Given the description of an element on the screen output the (x, y) to click on. 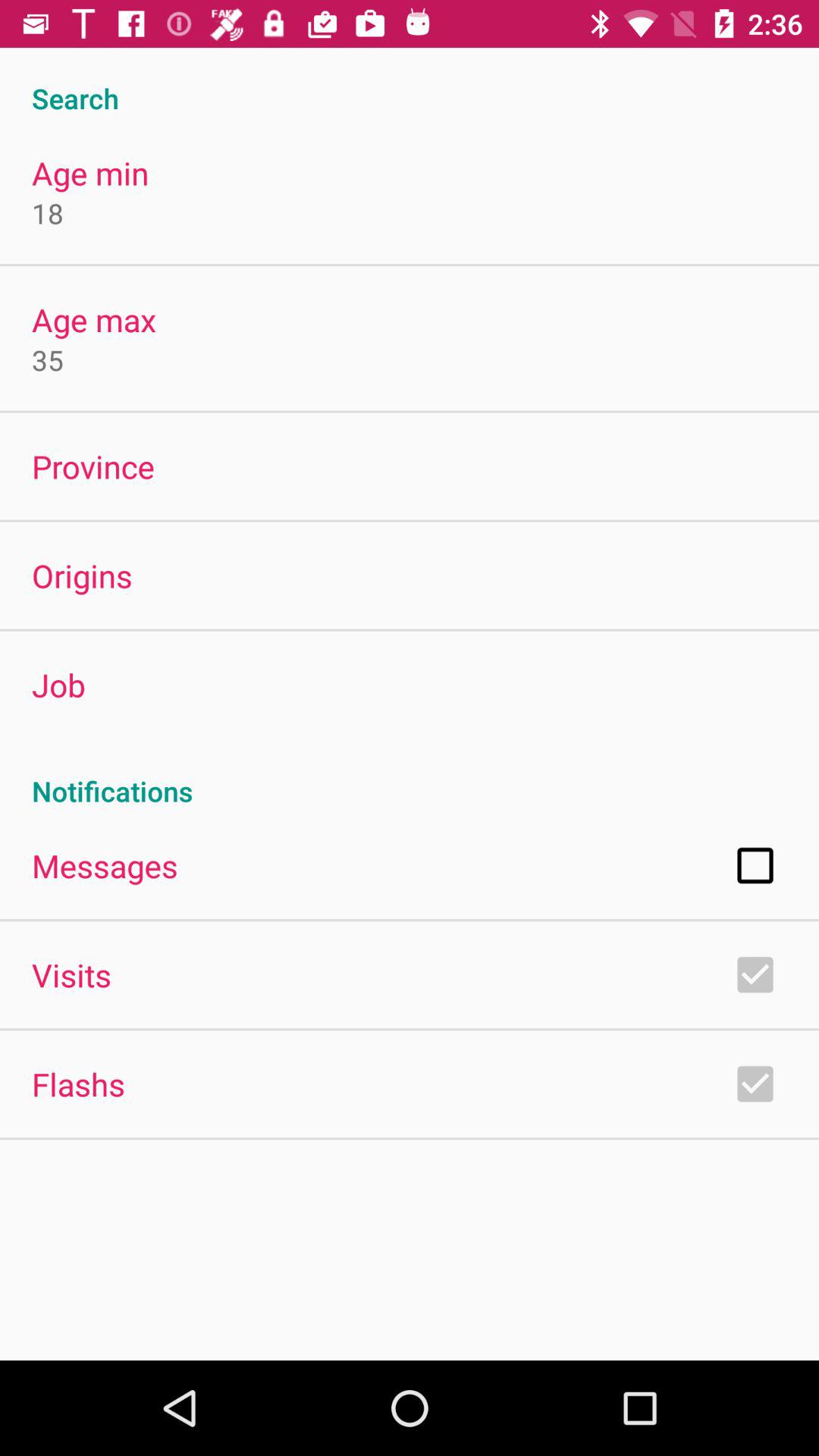
jump until age max app (93, 319)
